Given the description of an element on the screen output the (x, y) to click on. 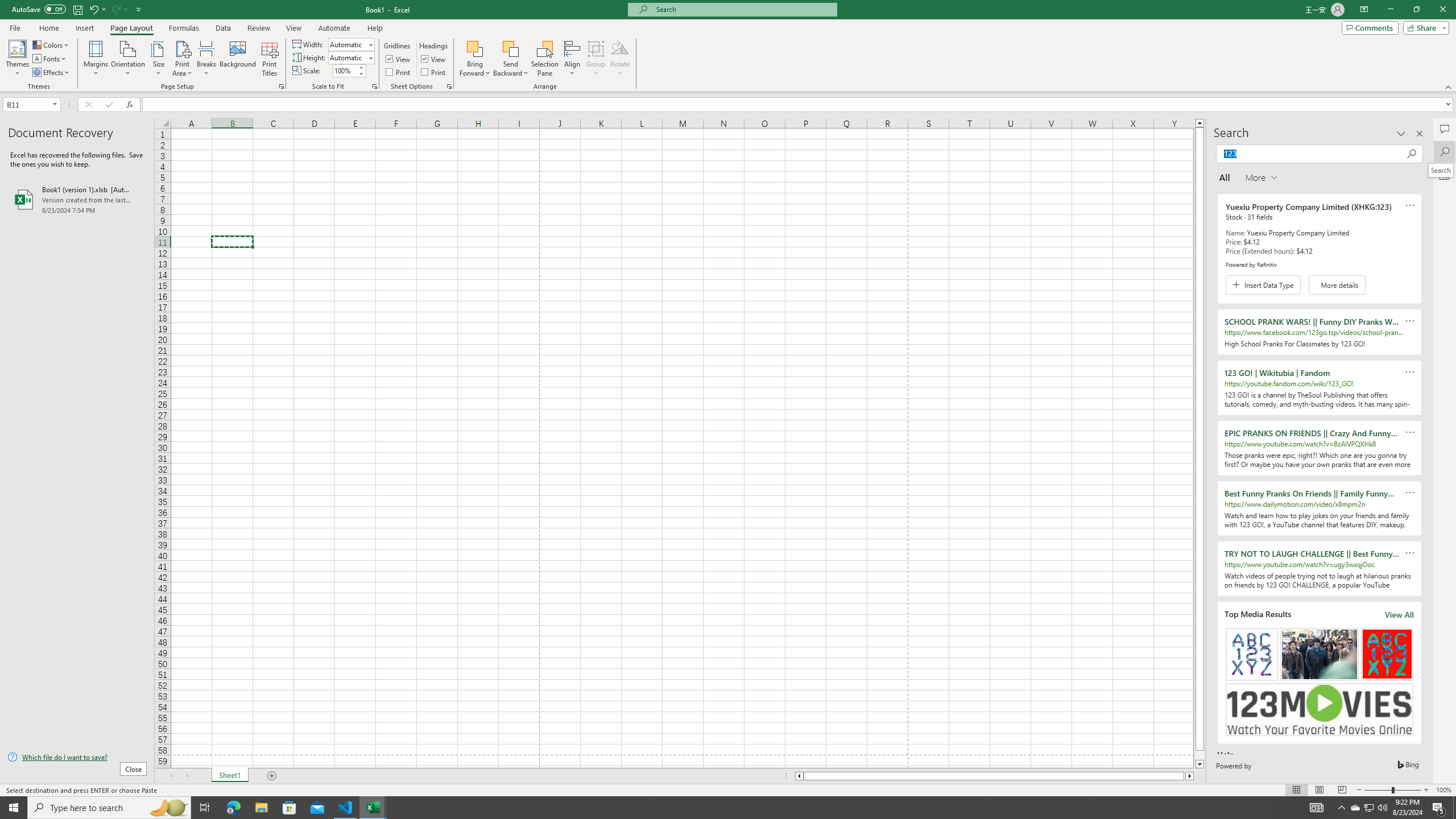
Print (434, 71)
Margins (95, 58)
Rotate (619, 58)
Group (595, 58)
Height (347, 57)
Align (571, 58)
Close pane (1419, 133)
Print Area (182, 58)
Effects (51, 72)
